Given the description of an element on the screen output the (x, y) to click on. 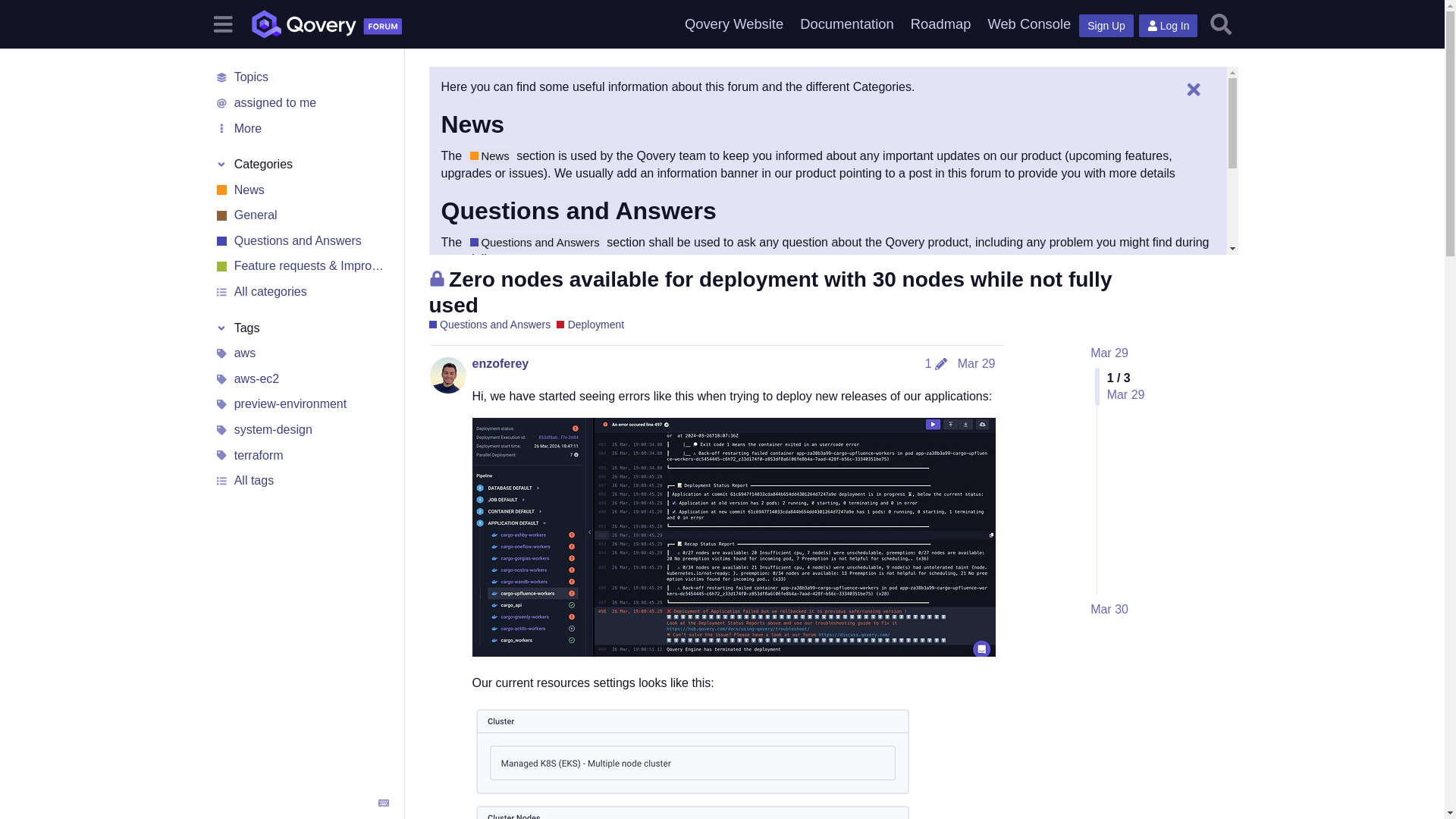
preview-environment (301, 404)
Questions and Answers (534, 242)
look at this page (527, 305)
All topics (301, 77)
Sidebar (222, 23)
Web Console (1028, 23)
News (301, 190)
Tags (301, 328)
Categories (301, 164)
Roadmap (940, 23)
Topics (301, 77)
Deployment (590, 324)
Access the Qovery Web console (1028, 23)
Search (1220, 23)
Toggle section (301, 328)
